Given the description of an element on the screen output the (x, y) to click on. 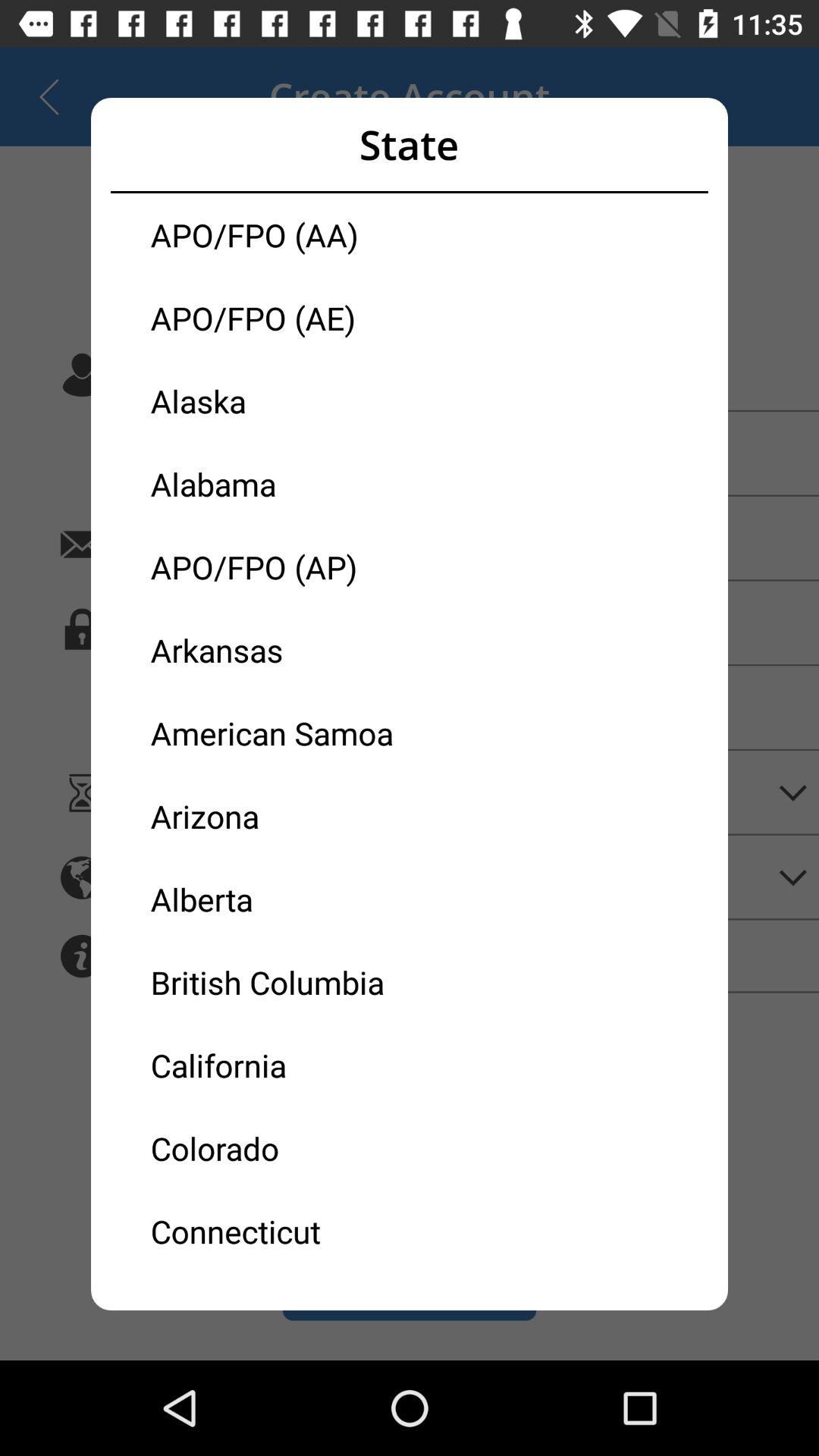
click item above alberta icon (279, 815)
